Given the description of an element on the screen output the (x, y) to click on. 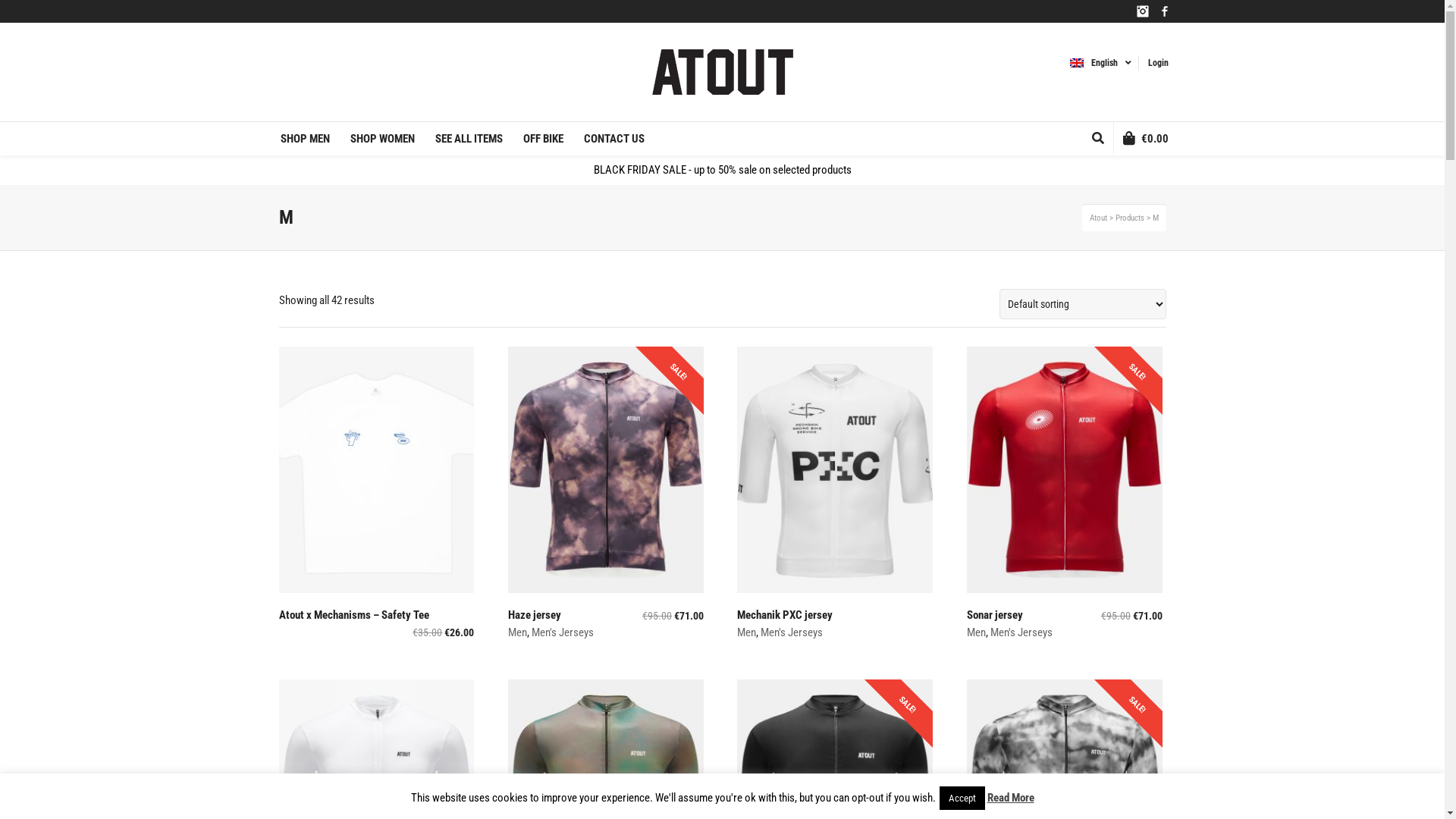
SHOP MEN Element type: text (304, 138)
Men Element type: text (517, 632)
Atout Element type: text (1097, 217)
Login Element type: text (1158, 62)
OFF BIKE Element type: text (543, 138)
Accept Element type: text (961, 797)
English Element type: text (1097, 62)
Men's Jerseys Element type: text (791, 632)
Products Element type: text (1128, 217)
Men Element type: text (746, 632)
SHOP WOMEN Element type: text (382, 138)
Men Element type: text (975, 632)
Instagram Element type: text (1141, 11)
Haze jersey Element type: text (534, 614)
Men's Jerseys Element type: text (562, 632)
Facebook Element type: text (1164, 11)
Men's Jerseys Element type: text (1021, 632)
Sonar jersey Element type: text (994, 614)
Read More Element type: text (1010, 797)
Mechanik PXC jersey Element type: text (784, 614)
CONTACT US Element type: text (613, 138)
SEE ALL ITEMS Element type: text (468, 138)
